Given the description of an element on the screen output the (x, y) to click on. 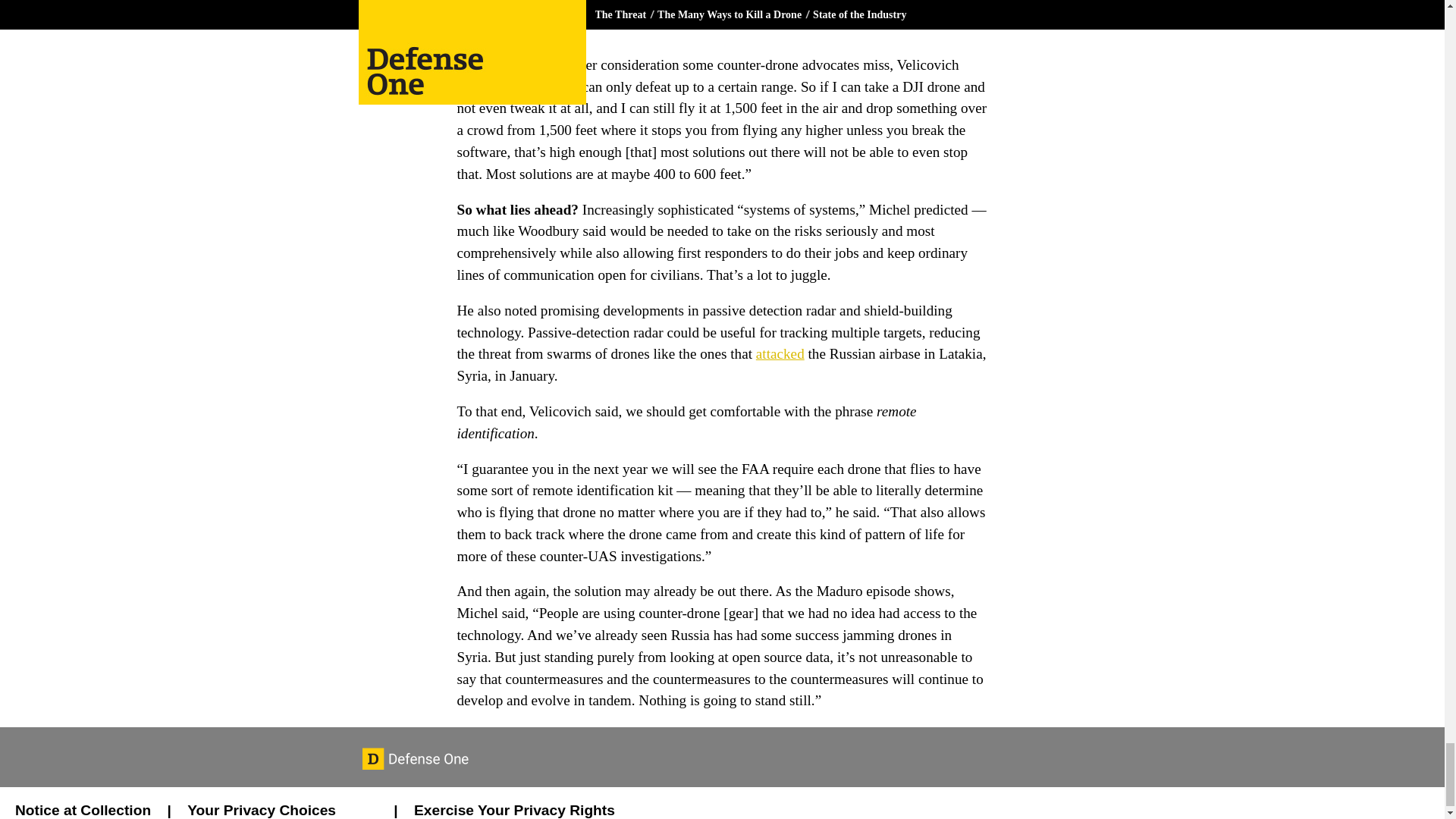
Exercise Your Privacy Rights (513, 810)
attacked (780, 353)
